Given the description of an element on the screen output the (x, y) to click on. 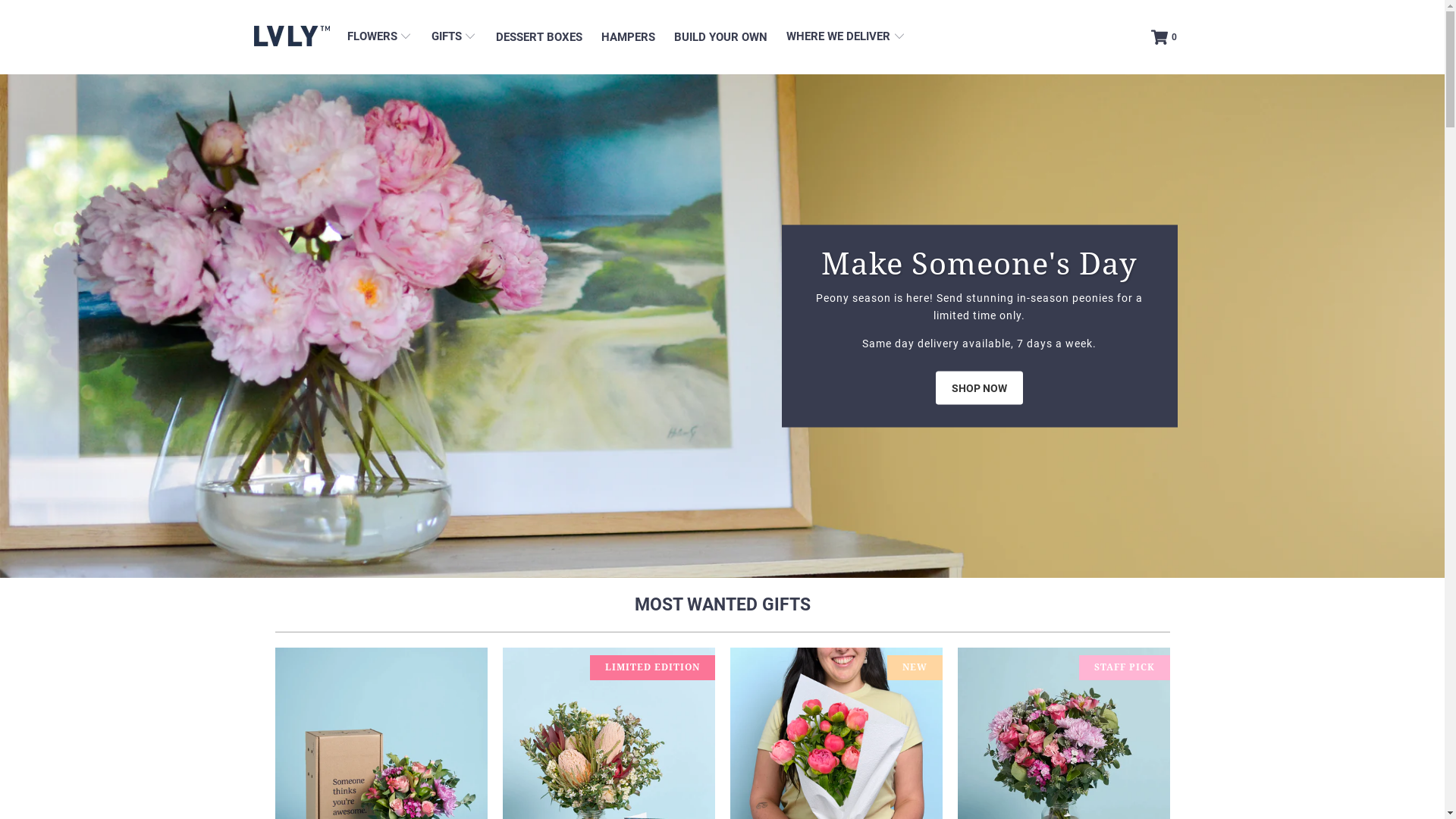
DESSERT BOXES Element type: text (538, 37)
0 Element type: text (1165, 36)
LVLY Element type: hover (291, 36)
BUILD YOUR OWN Element type: text (720, 37)
SHOP NOW Element type: text (978, 387)
HAMPERS Element type: text (628, 37)
